Given the description of an element on the screen output the (x, y) to click on. 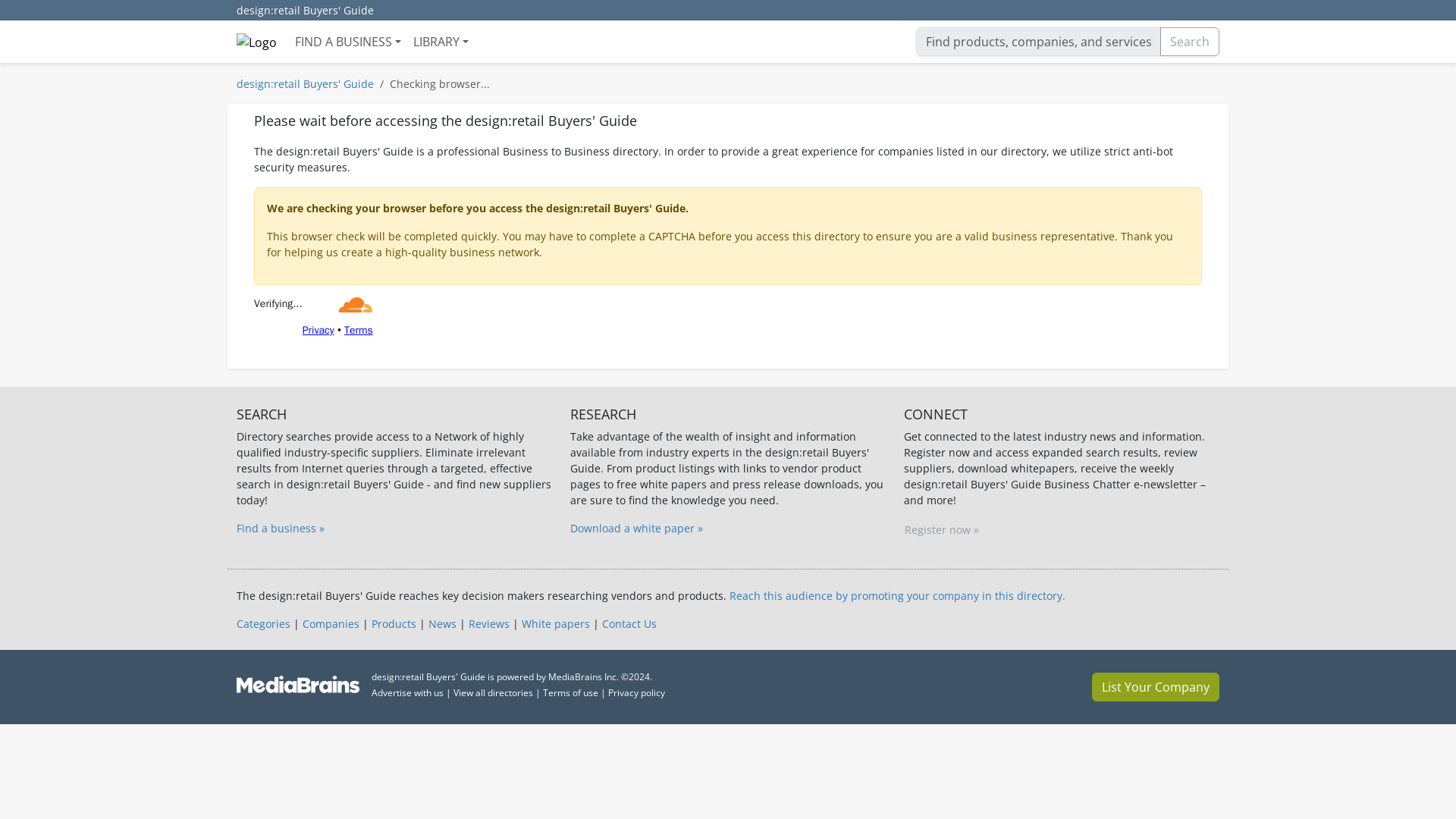
Companies (330, 623)
Categories (262, 623)
News (442, 623)
Products (393, 623)
Terms of use (570, 692)
List Your Company (1156, 686)
White papers (555, 623)
design:retail Buyers' Guide (304, 10)
Privacy policy (636, 692)
Advertise with us (407, 692)
